Given the description of an element on the screen output the (x, y) to click on. 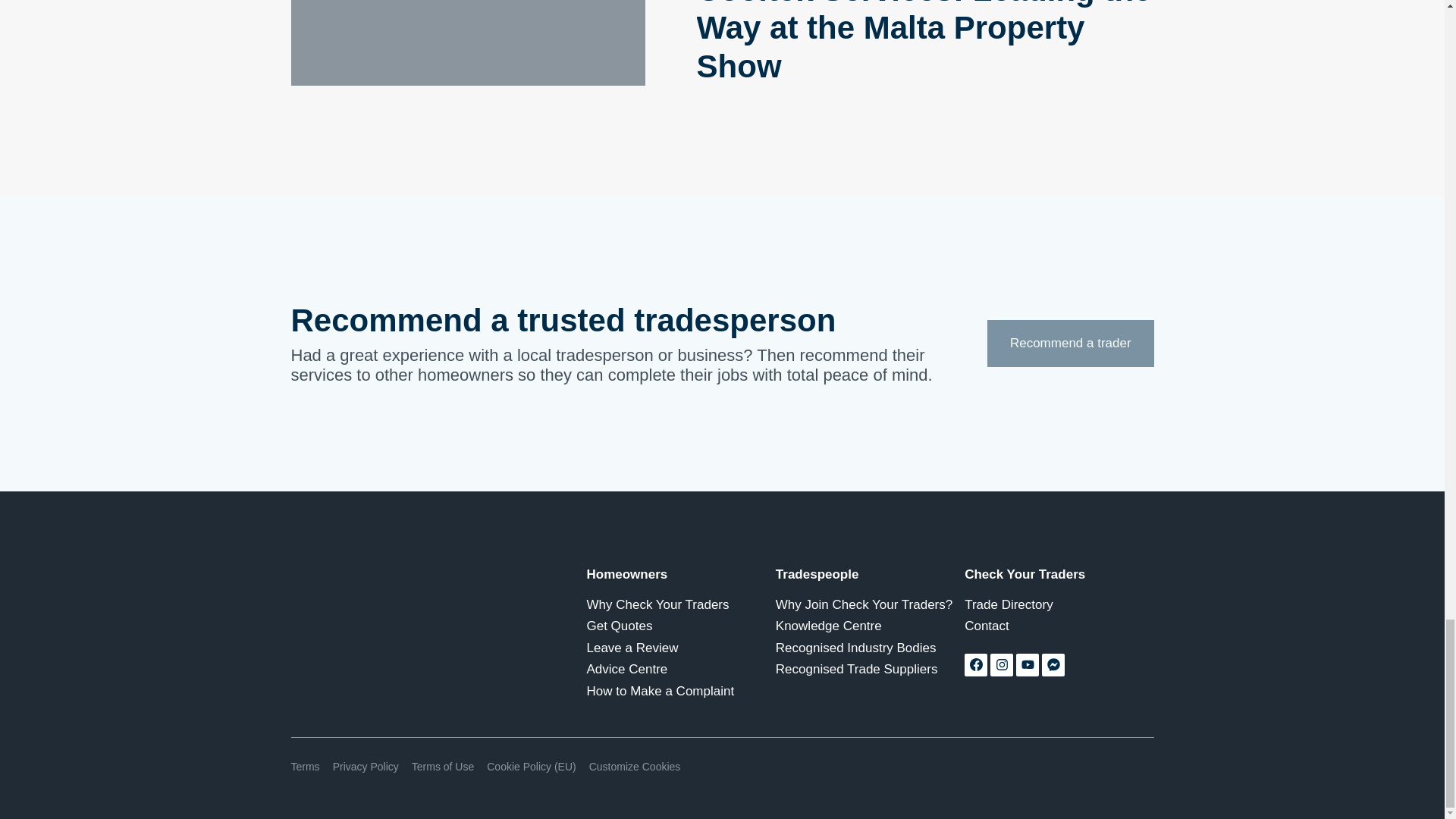
Cooltek Services: Leading the Way at the Malta Property Show (925, 42)
Why Join Check Your Traders? (869, 604)
Recognised Trade Suppliers (869, 669)
Terms (305, 766)
Terms of Use (443, 766)
How to Make a Complaint (681, 691)
Customize Cookies (635, 766)
Recognised Industry Bodies (869, 648)
Trade Directory (1058, 604)
Privacy Policy (365, 766)
Recommend a trader (1070, 342)
Advice Centre (681, 669)
Why Check Your Traders (681, 604)
Knowledge Centre (869, 626)
Contact (1058, 626)
